Given the description of an element on the screen output the (x, y) to click on. 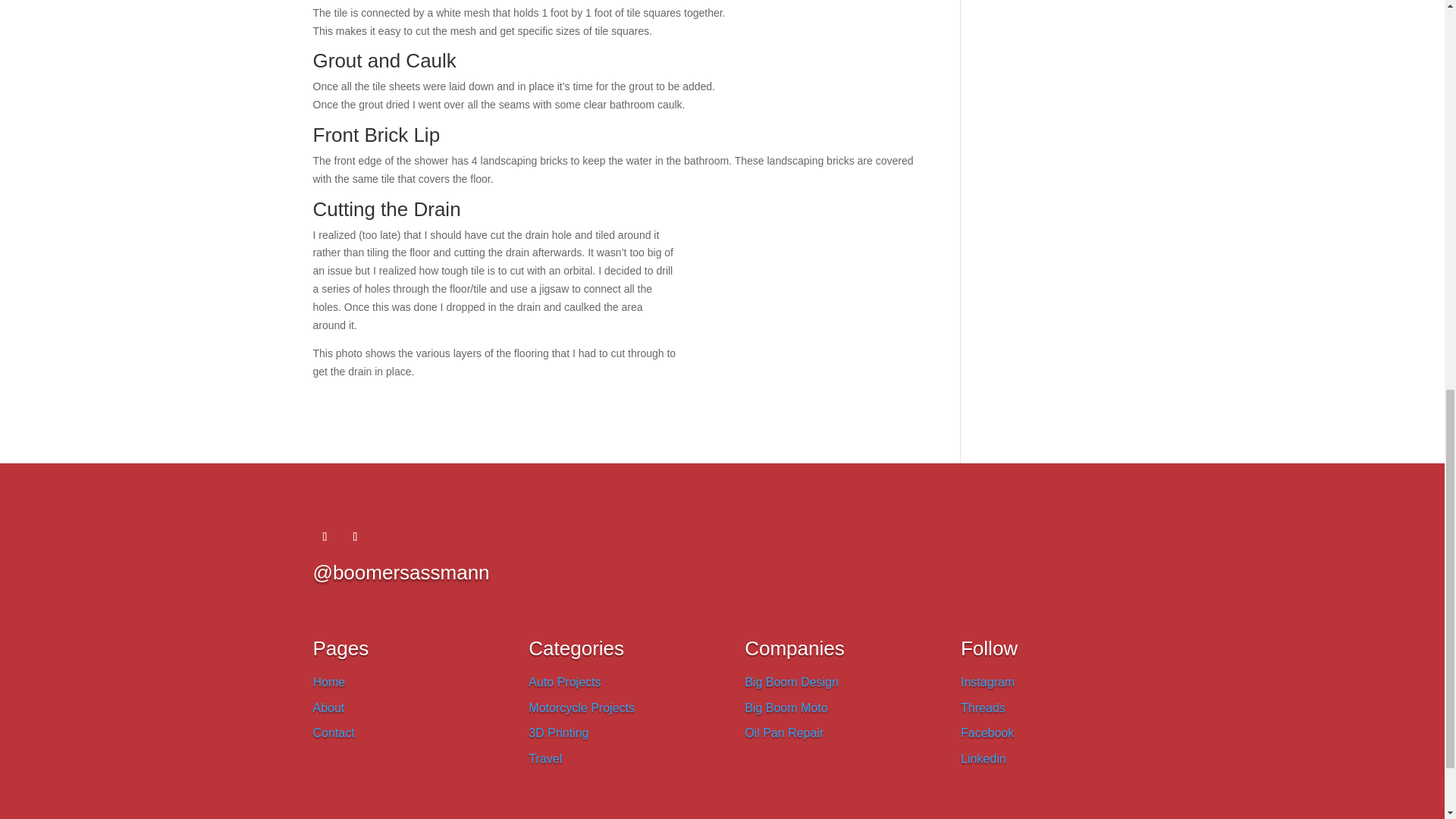
Home (329, 681)
Follow on Facebook (324, 536)
Follow on Instagram (354, 536)
